Given the description of an element on the screen output the (x, y) to click on. 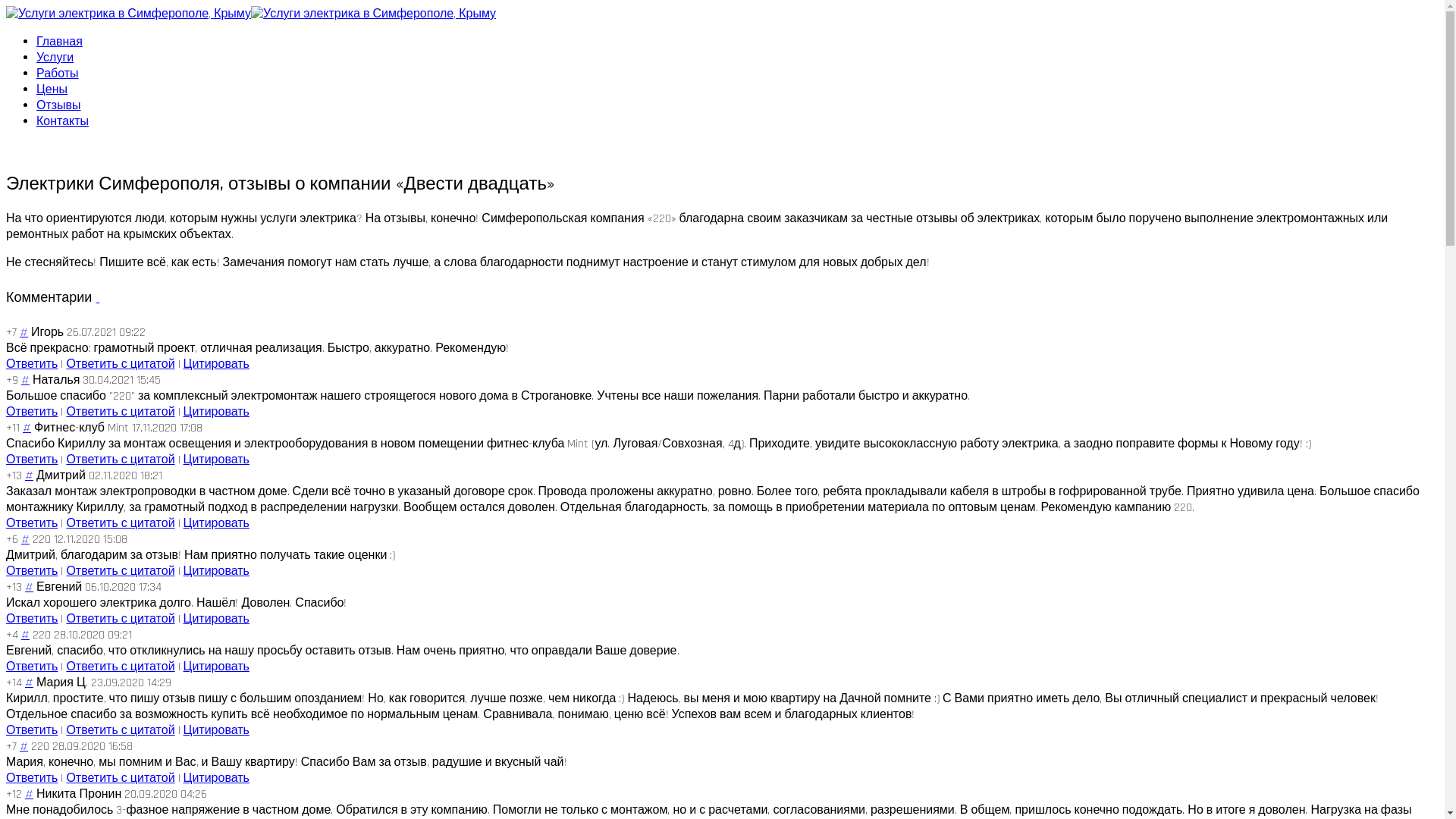
# Element type: text (29, 794)
# Element type: text (25, 635)
# Element type: text (23, 746)
# Element type: text (26, 428)
# Element type: text (25, 380)
# Element type: text (29, 587)
# Element type: text (25, 539)
# Element type: text (29, 475)
# Element type: text (29, 682)
  Element type: text (97, 297)
# Element type: text (23, 332)
